Given the description of an element on the screen output the (x, y) to click on. 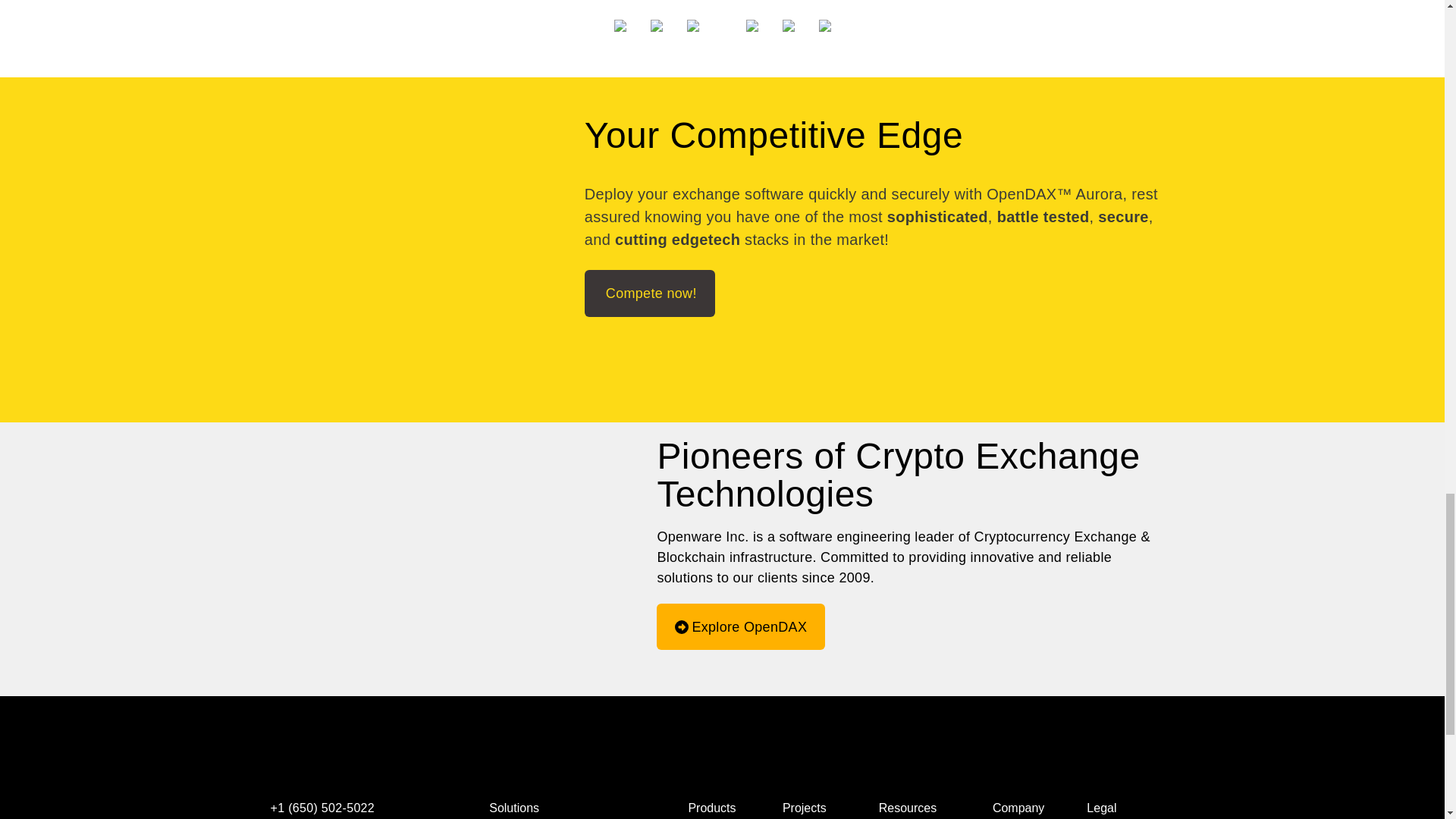
Explore OpenDAX (740, 626)
Compete now! (649, 293)
Resources (914, 803)
Products (713, 803)
Company (1017, 803)
Projects (809, 803)
Solutions (567, 803)
